Given the description of an element on the screen output the (x, y) to click on. 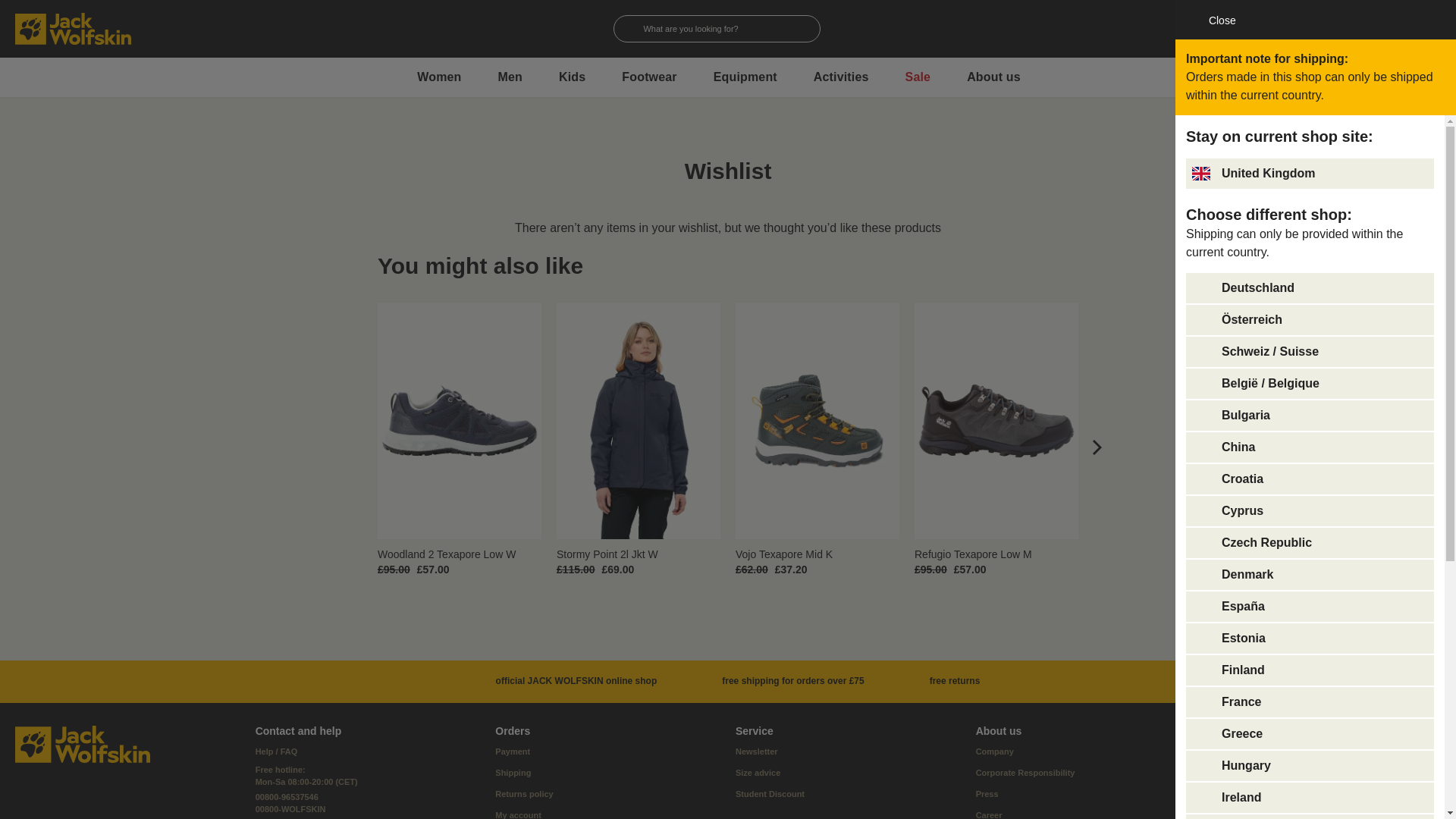
Store Finder (1342, 28)
View basket (1431, 28)
Women (438, 77)
View wishlist (1401, 28)
My Account (1371, 28)
